Given the description of an element on the screen output the (x, y) to click on. 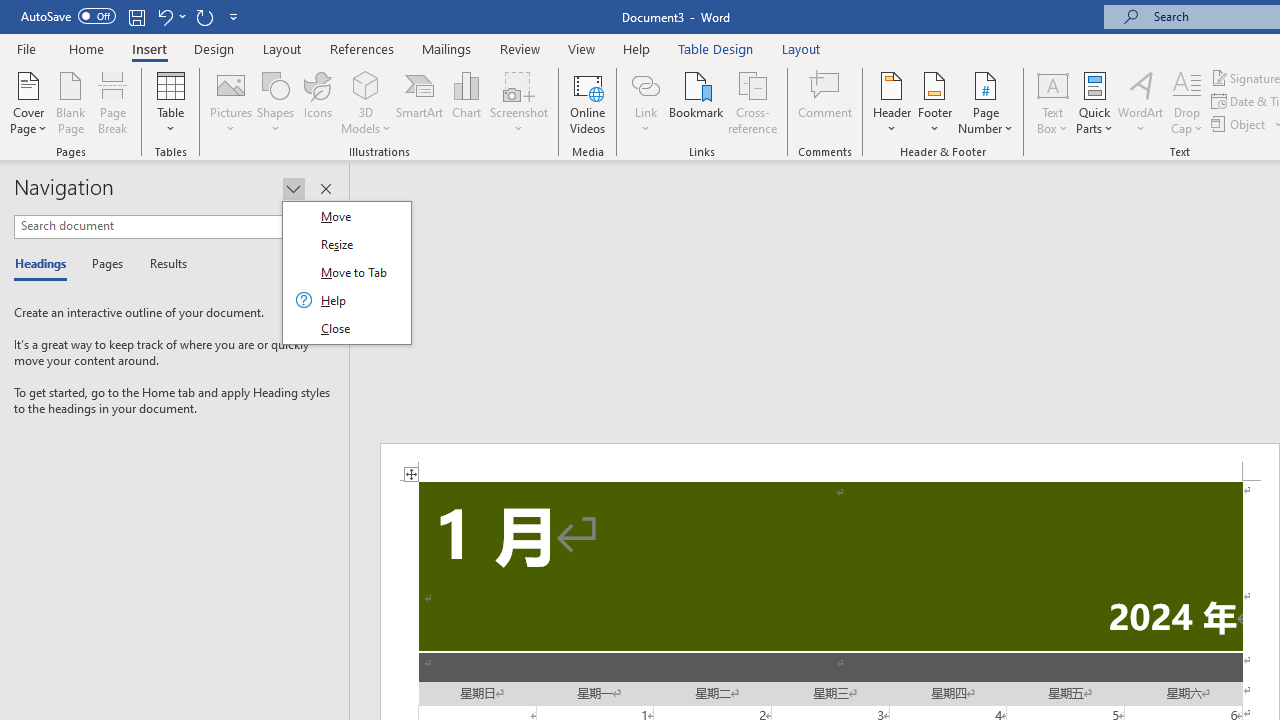
Text Box (1052, 102)
Link (645, 84)
Header (891, 102)
Icons (317, 102)
Screenshot (518, 102)
SmartArt... (419, 102)
3D Models (366, 84)
Link (645, 102)
Bookmark... (695, 102)
